Given the description of an element on the screen output the (x, y) to click on. 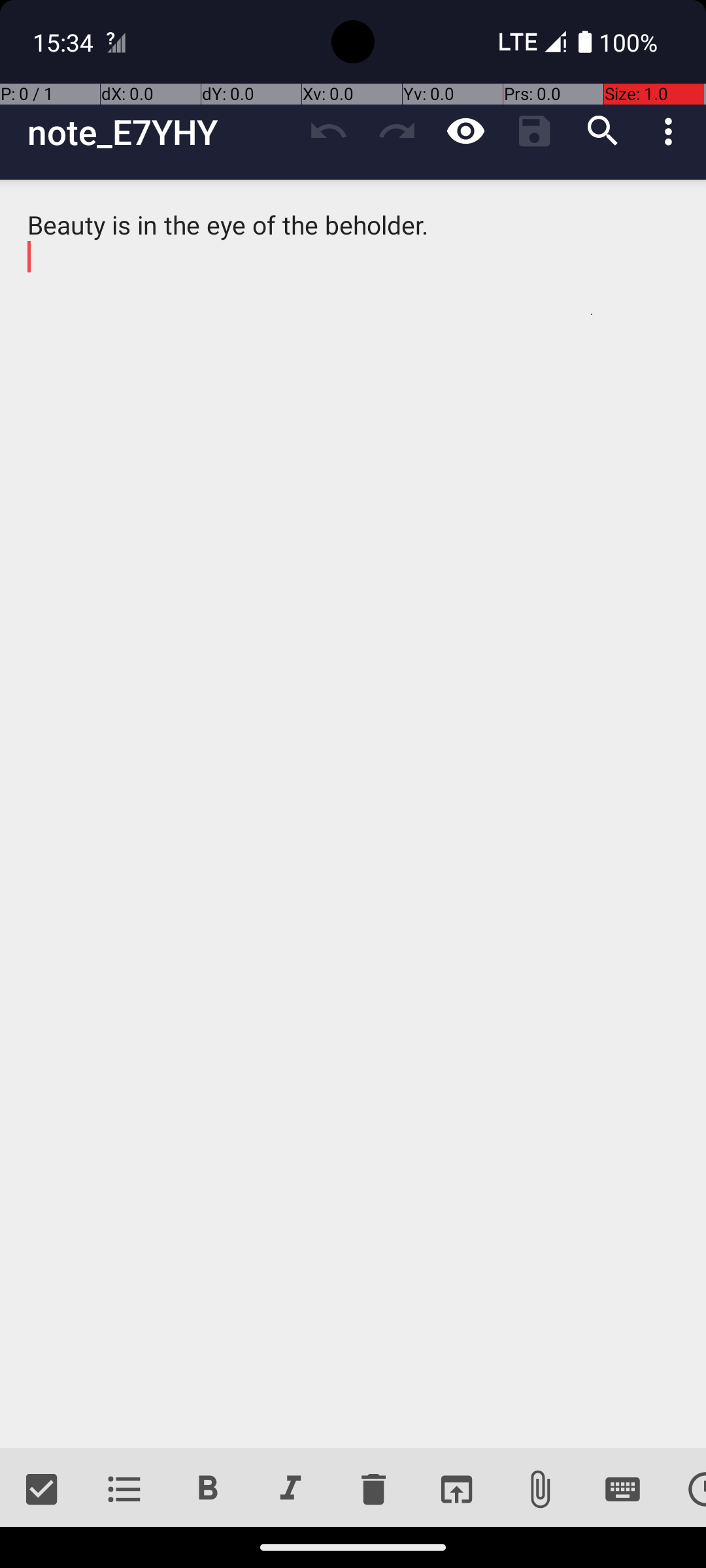
note_E7YHY Element type: android.widget.TextView (160, 131)
Beauty is in the eye of the beholder.
 Element type: android.widget.EditText (353, 813)
